Given the description of an element on the screen output the (x, y) to click on. 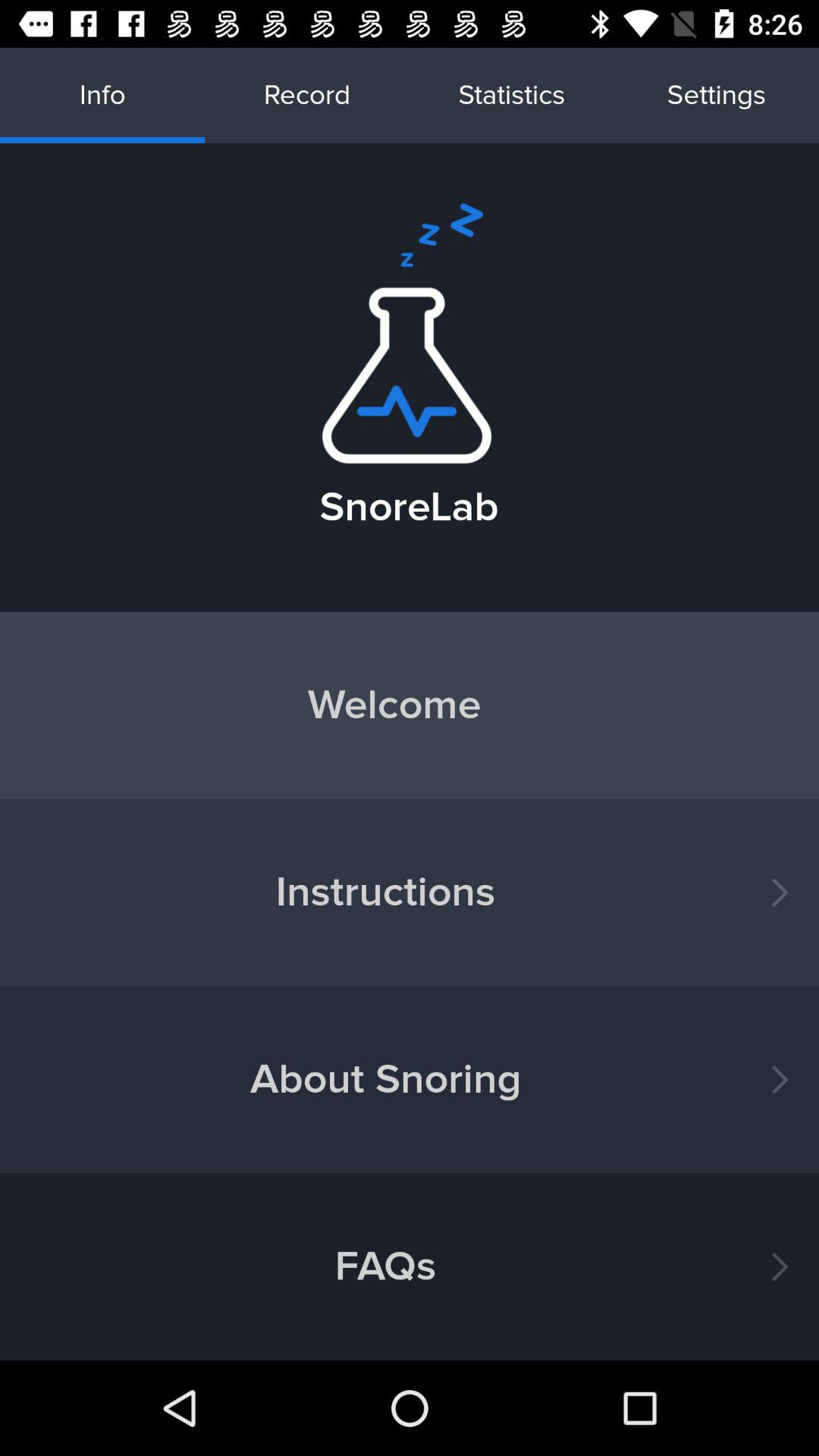
scroll to the instructions icon (409, 892)
